Given the description of an element on the screen output the (x, y) to click on. 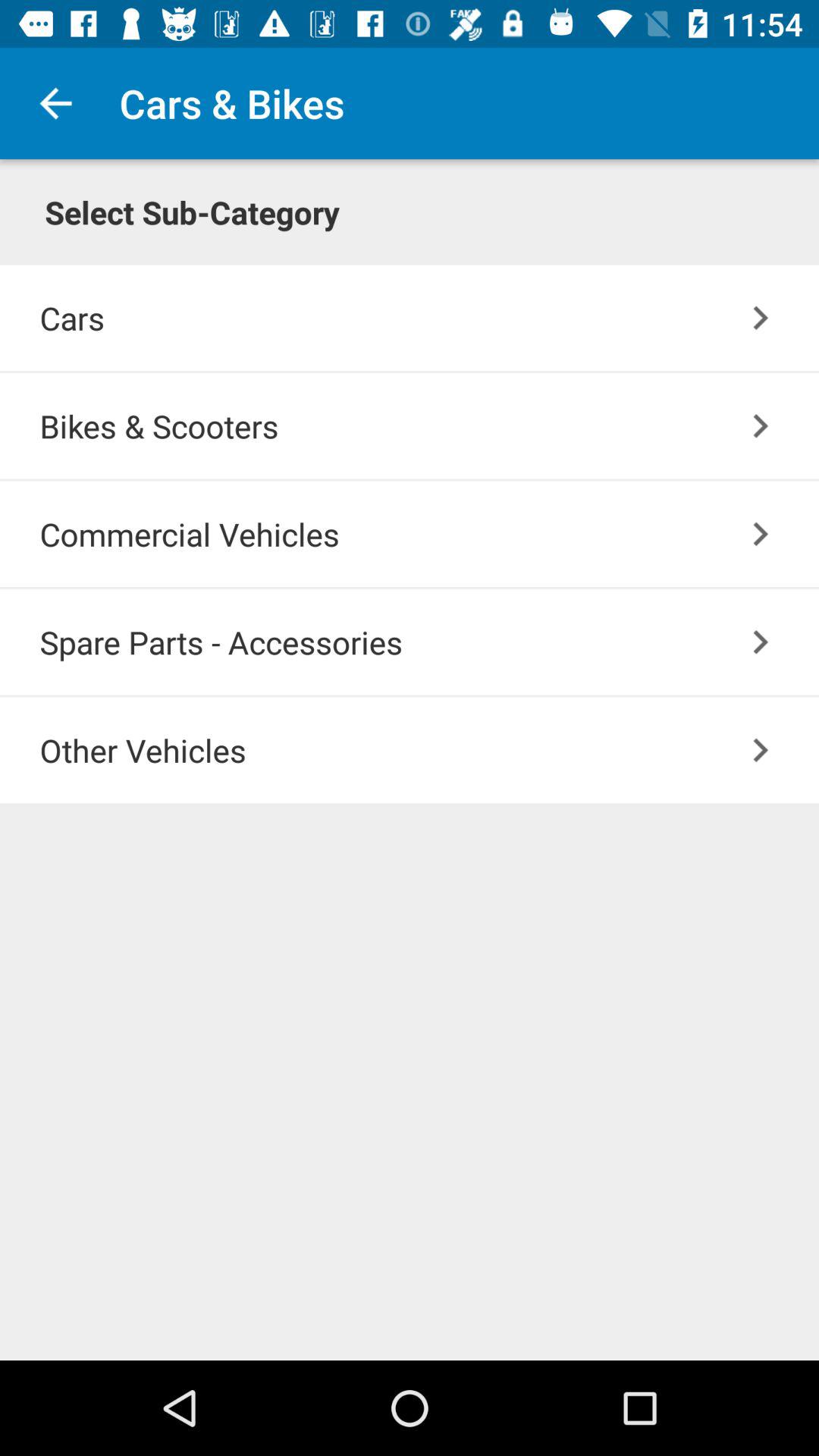
turn off the item above bikes & scooters (760, 317)
